Given the description of an element on the screen output the (x, y) to click on. 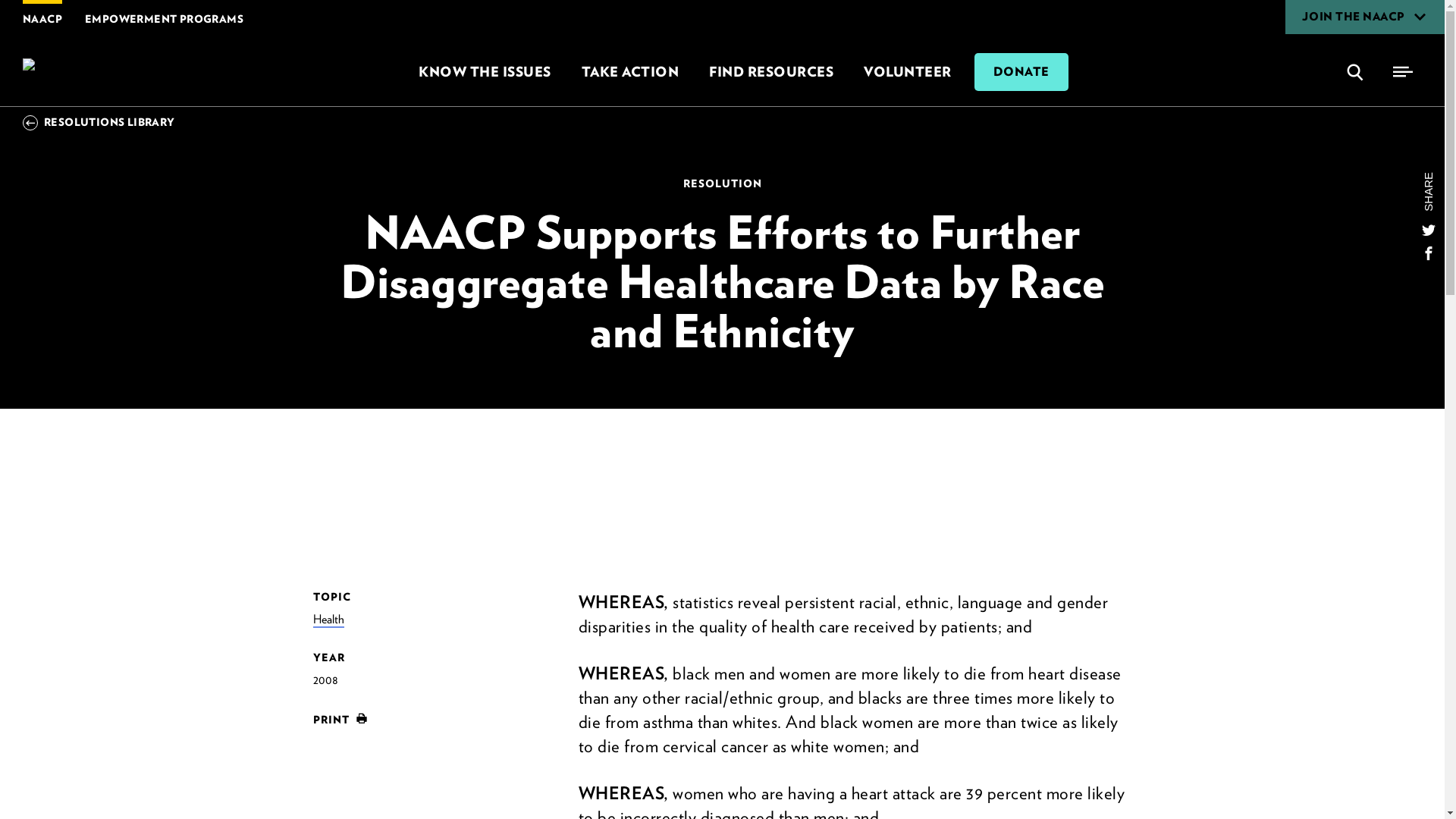
Action Center (630, 71)
All Issues (484, 71)
NAACP (84, 71)
